Given the description of an element on the screen output the (x, y) to click on. 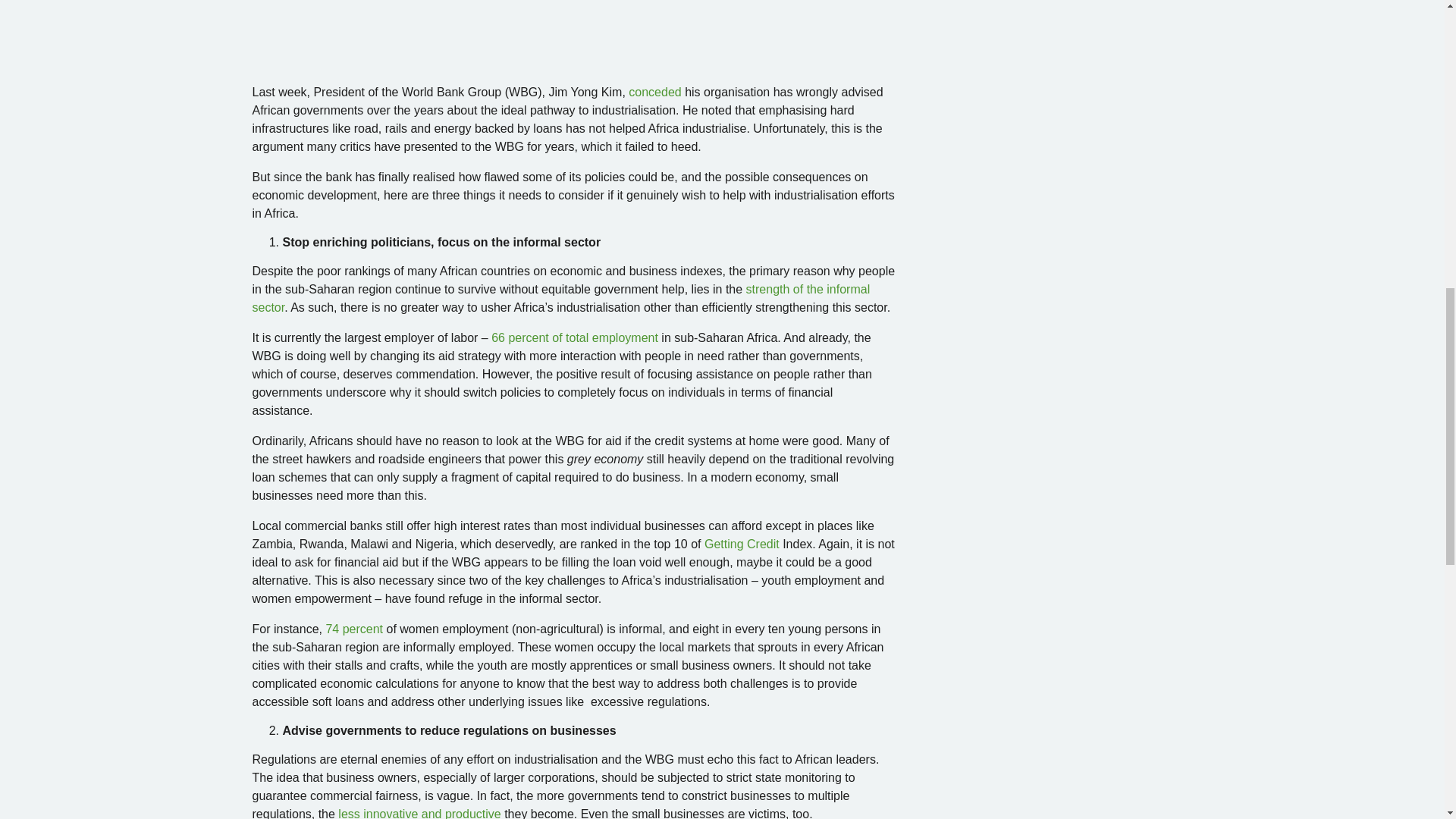
strength of the informal sector (560, 297)
conceded (654, 91)
